Given the description of an element on the screen output the (x, y) to click on. 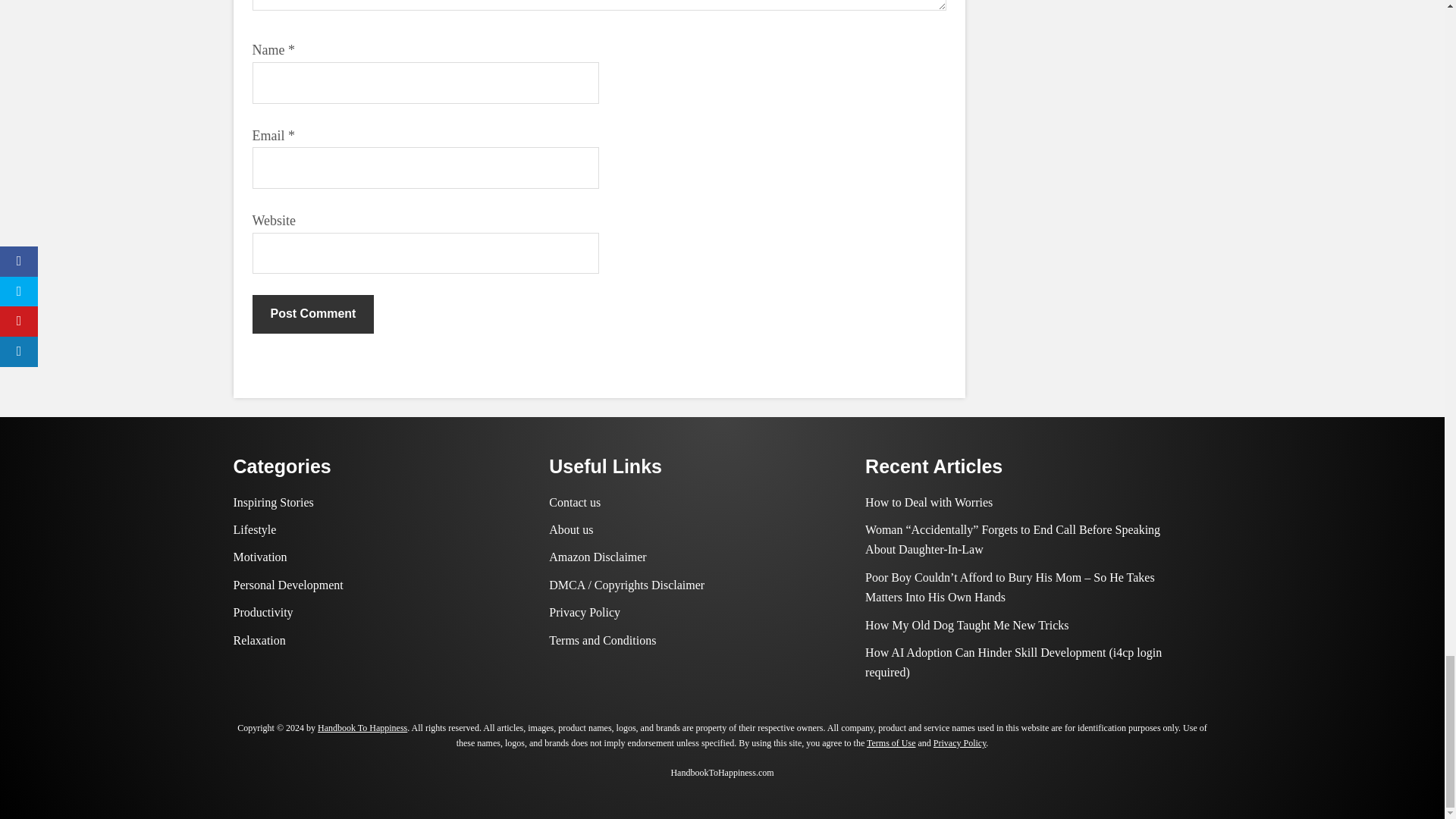
Post Comment (312, 313)
